Given the description of an element on the screen output the (x, y) to click on. 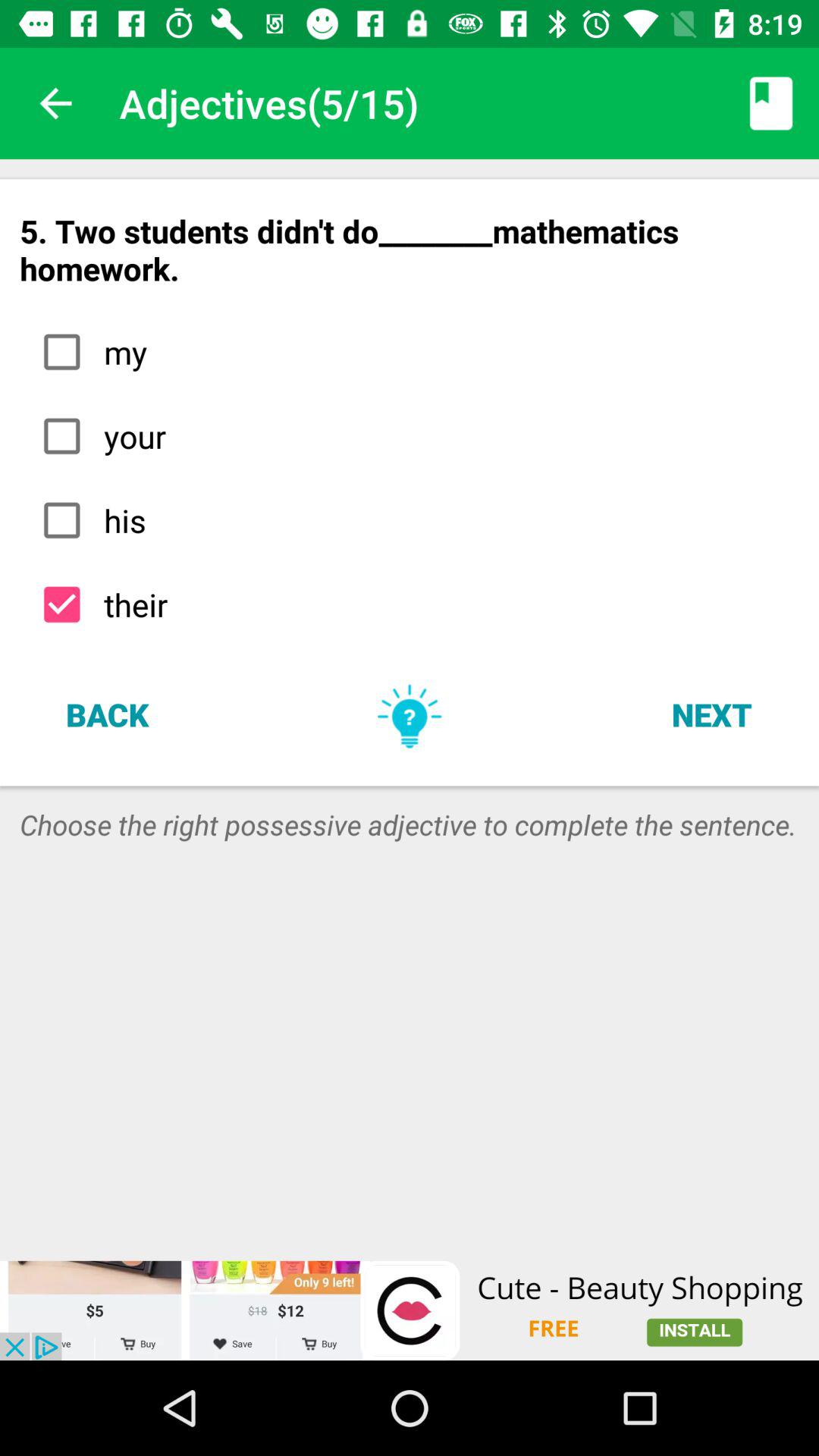
advertisent page (409, 1310)
